Given the description of an element on the screen output the (x, y) to click on. 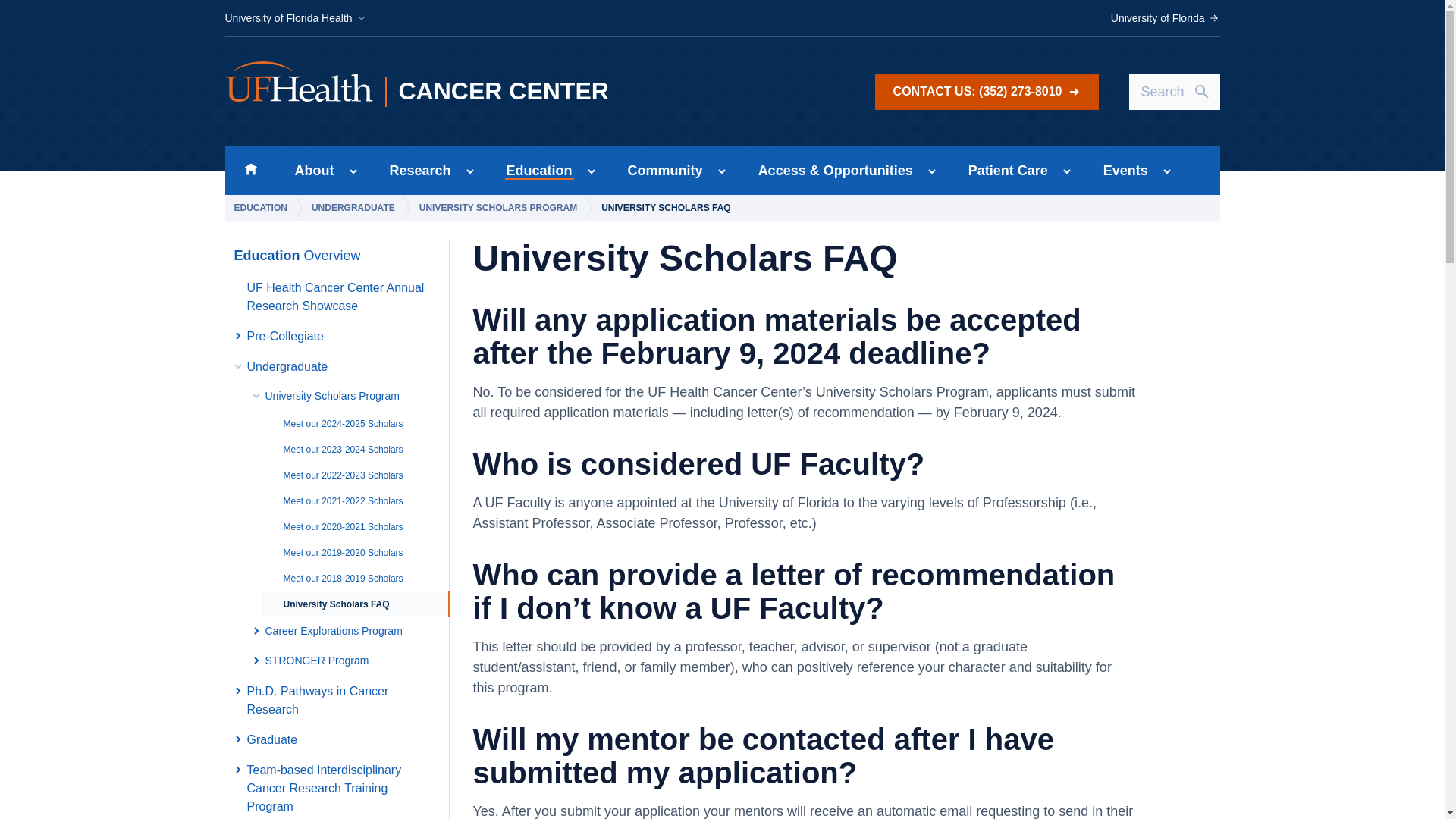
Research (415, 170)
Home (250, 170)
University of Florida (1165, 18)
University of Florida Health (295, 18)
CANCER CENTER (515, 91)
About (309, 170)
